Given the description of an element on the screen output the (x, y) to click on. 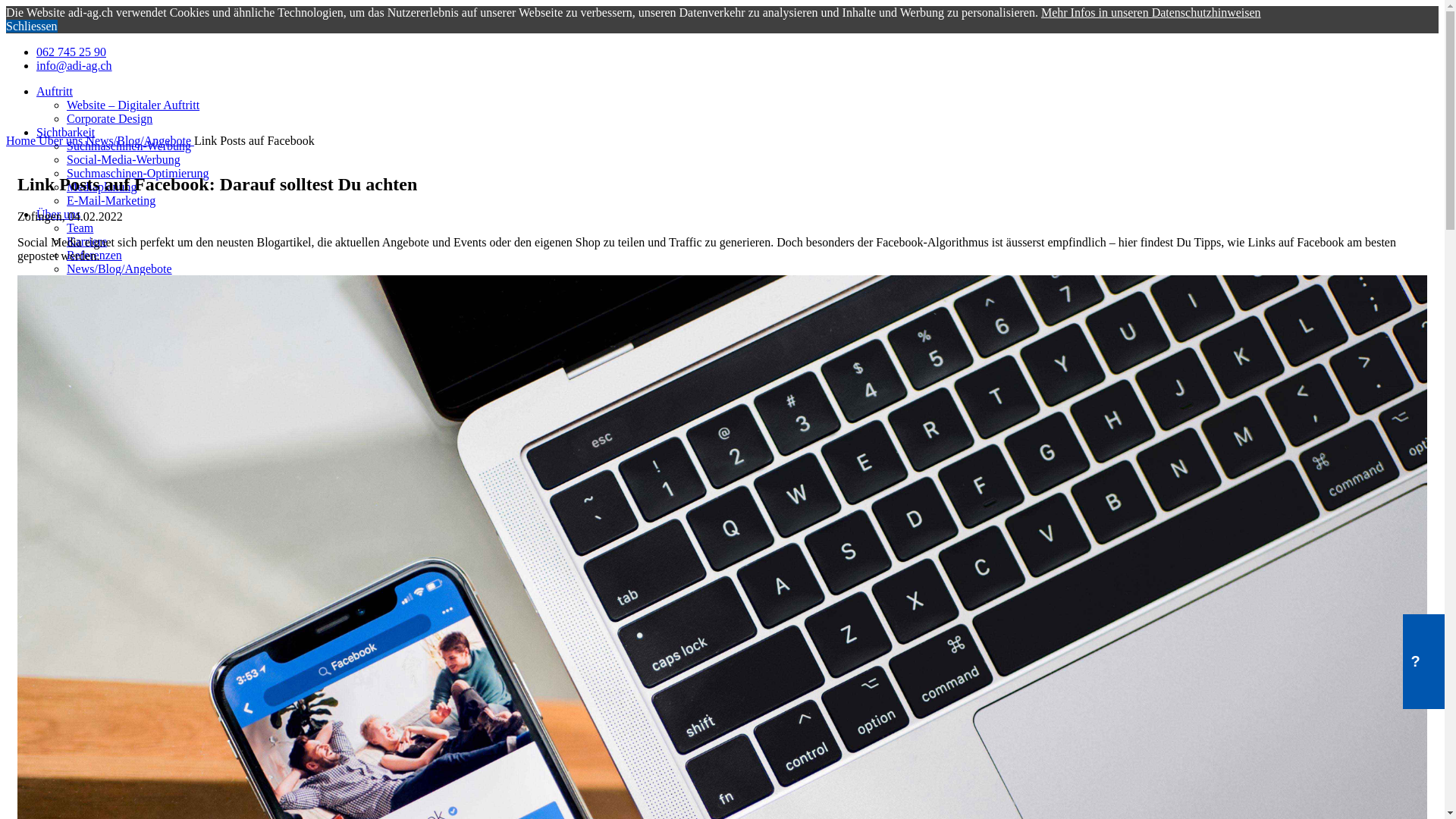
Social Media Element type: text (98, 309)
Auftritt Element type: text (54, 90)
Interaktiver 3D-Rundgang Element type: text (130, 336)
Corporate Design Element type: text (109, 118)
Karriere Element type: text (86, 241)
Sichtbarkeit Element type: text (65, 131)
Suchmaschinen-Werbung Element type: text (128, 145)
info@adi-ag.ch Element type: text (737, 65)
News/Blog/Angebote Element type: text (139, 140)
ADi-Check Element type: text (94, 282)
Suchmaschinen-Optimierung Element type: text (137, 172)
Fotografie Element type: text (91, 363)
Mehr Infos in unseren Datenschutzhinweisen Element type: text (1151, 12)
Newsletter Element type: text (92, 418)
Link Posts auf Facebook Element type: text (254, 140)
Referenzen Element type: text (94, 254)
Inhalt Element type: text (50, 322)
Team Element type: text (79, 227)
Video-Produktion Element type: text (109, 350)
062 745 25 90 Element type: text (737, 52)
Kontakt Element type: text (55, 391)
Netzwerk Element type: text (59, 295)
News/Blog/Angebote Element type: text (119, 268)
E-Mail-Marketing Element type: text (110, 200)
Texten Element type: text (82, 377)
Social-Media-Werbung Element type: text (123, 159)
Mediaplanung Element type: text (101, 186)
Schliessen Element type: text (31, 25)
Home Element type: text (22, 140)
Anfahrt Element type: text (85, 404)
